Given the description of an element on the screen output the (x, y) to click on. 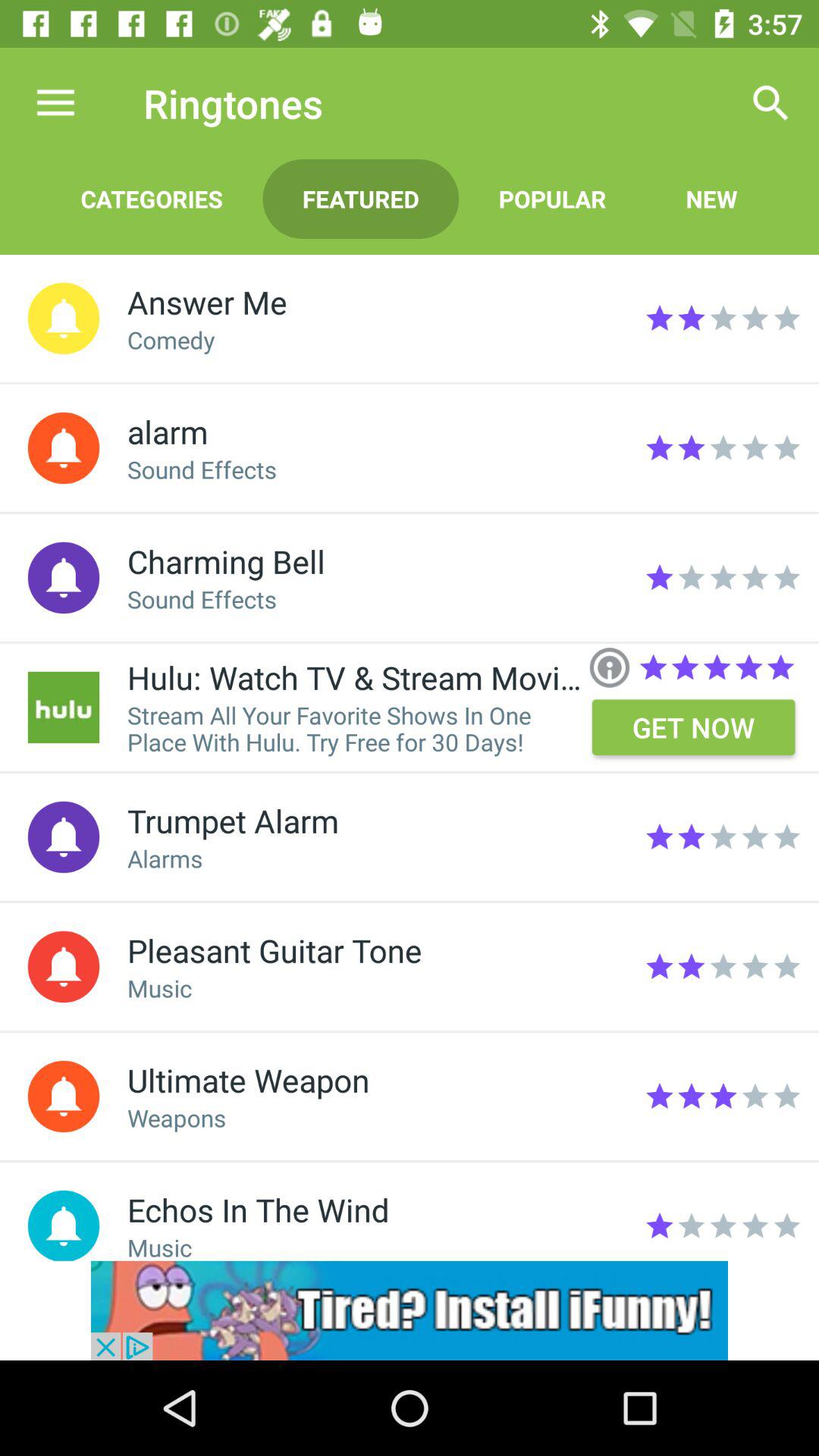
advertisement (409, 1310)
